Given the description of an element on the screen output the (x, y) to click on. 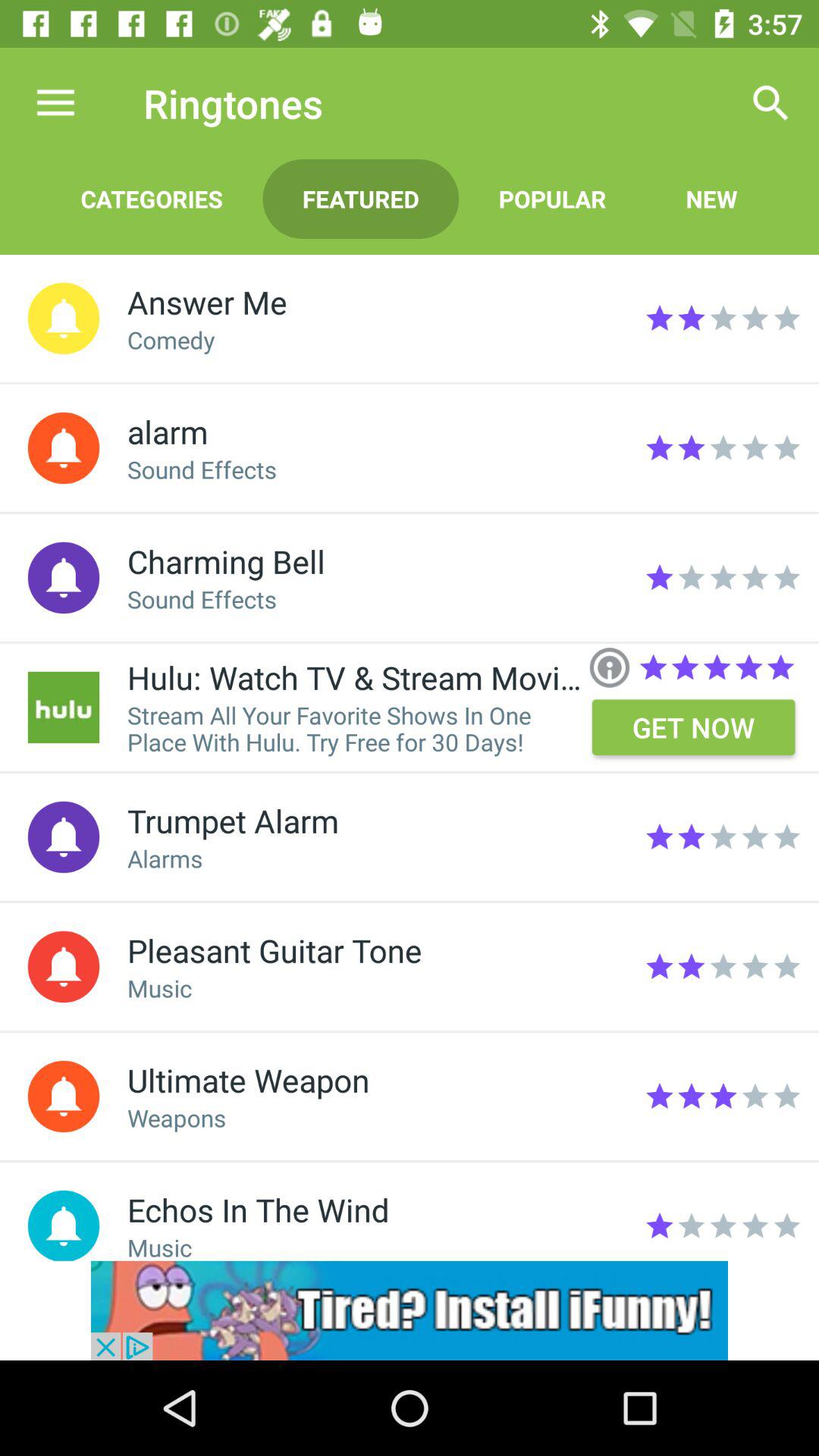
advertisement (409, 1310)
